Given the description of an element on the screen output the (x, y) to click on. 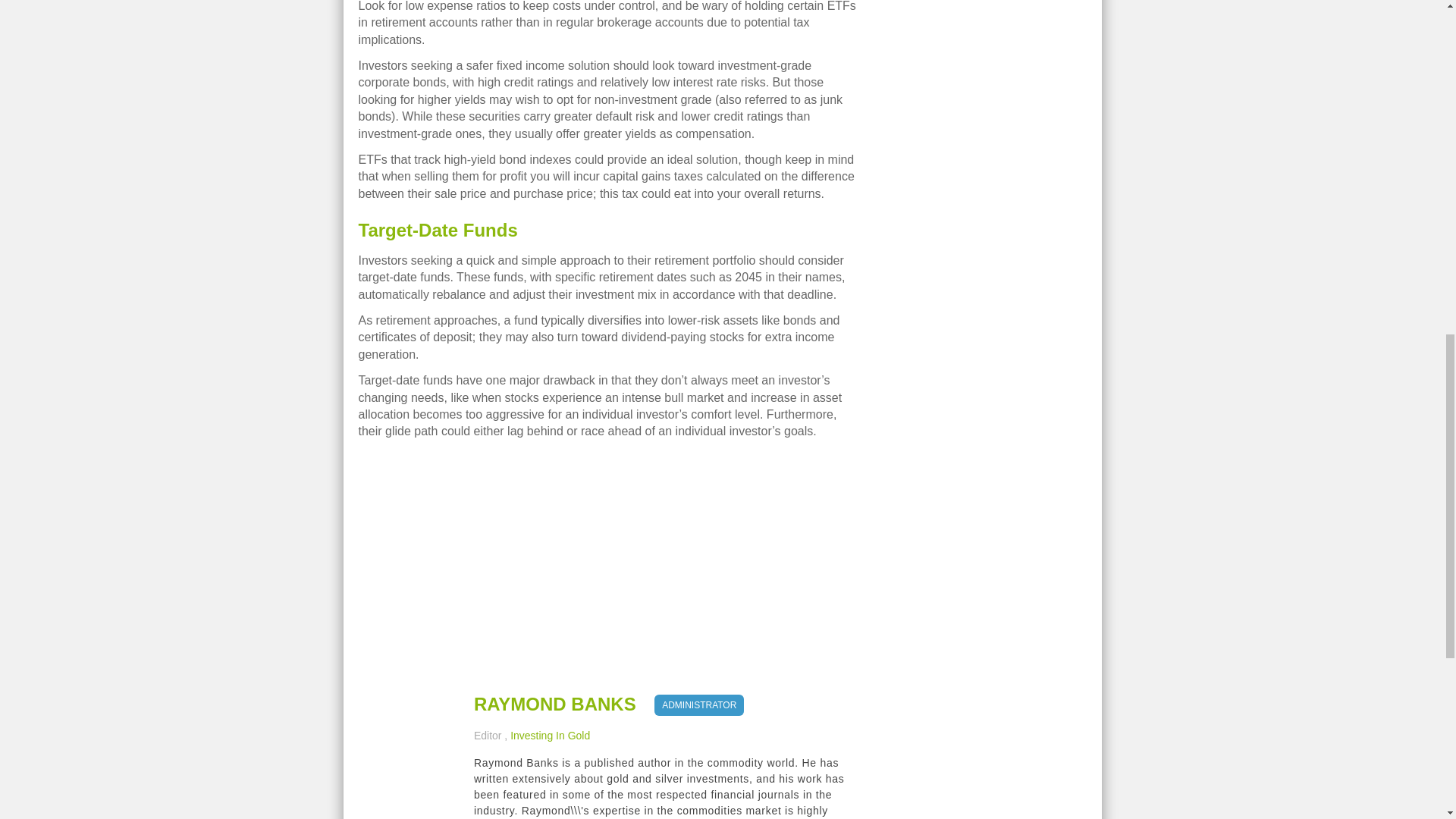
RAYMOND BANKS (555, 704)
Investing In Gold (550, 735)
